Given the description of an element on the screen output the (x, y) to click on. 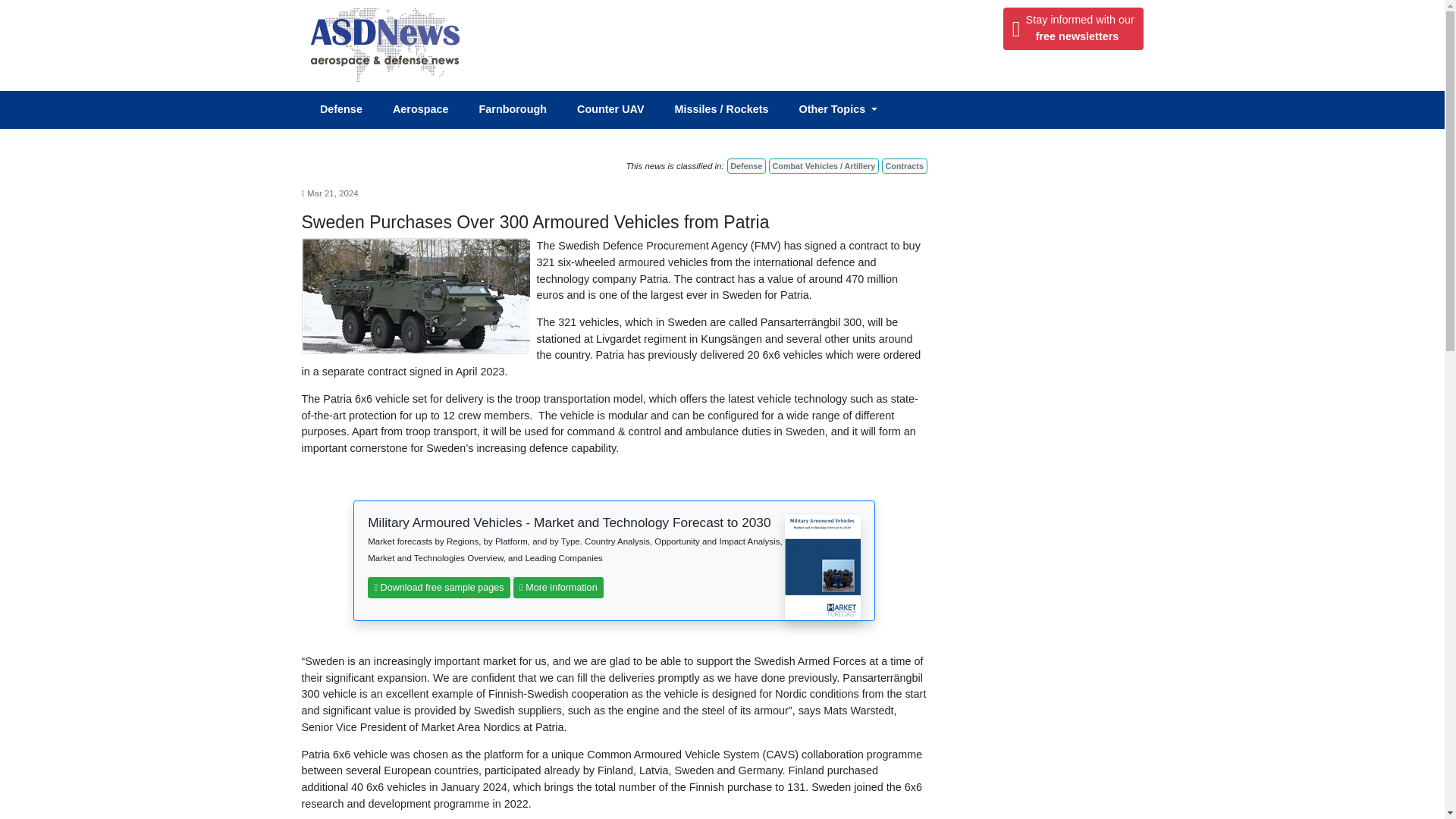
Aerospace (428, 109)
Counter UAV (617, 109)
Defense (349, 109)
Other Topics (844, 109)
More information (558, 587)
Download free sample pages (439, 587)
Defense (1072, 28)
Farnborough (745, 165)
Contracts (519, 109)
